Given the description of an element on the screen output the (x, y) to click on. 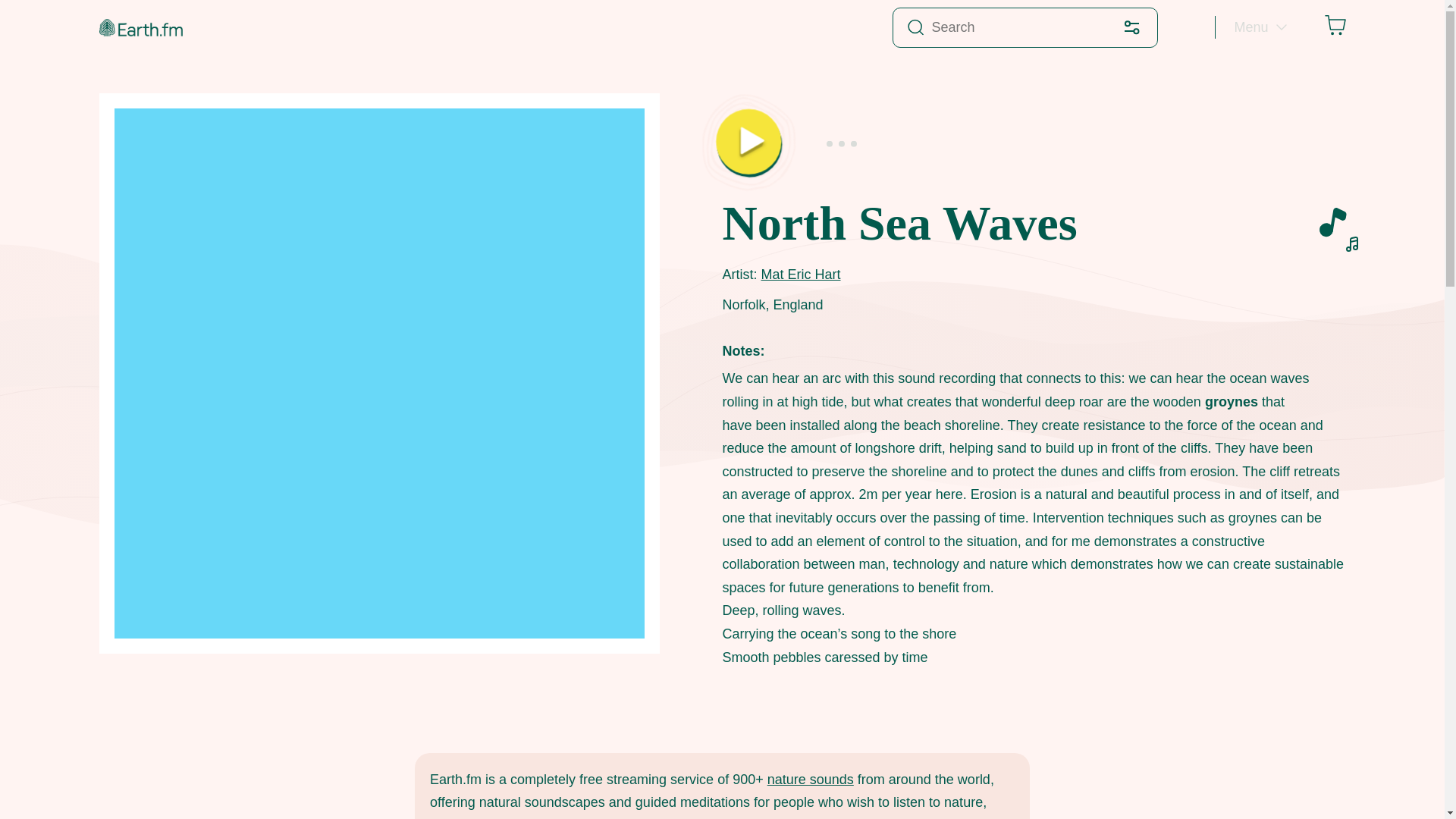
Mat Eric Hart (801, 273)
Filter (1130, 26)
Menu (1259, 27)
nature sounds (810, 779)
